Given the description of an element on the screen output the (x, y) to click on. 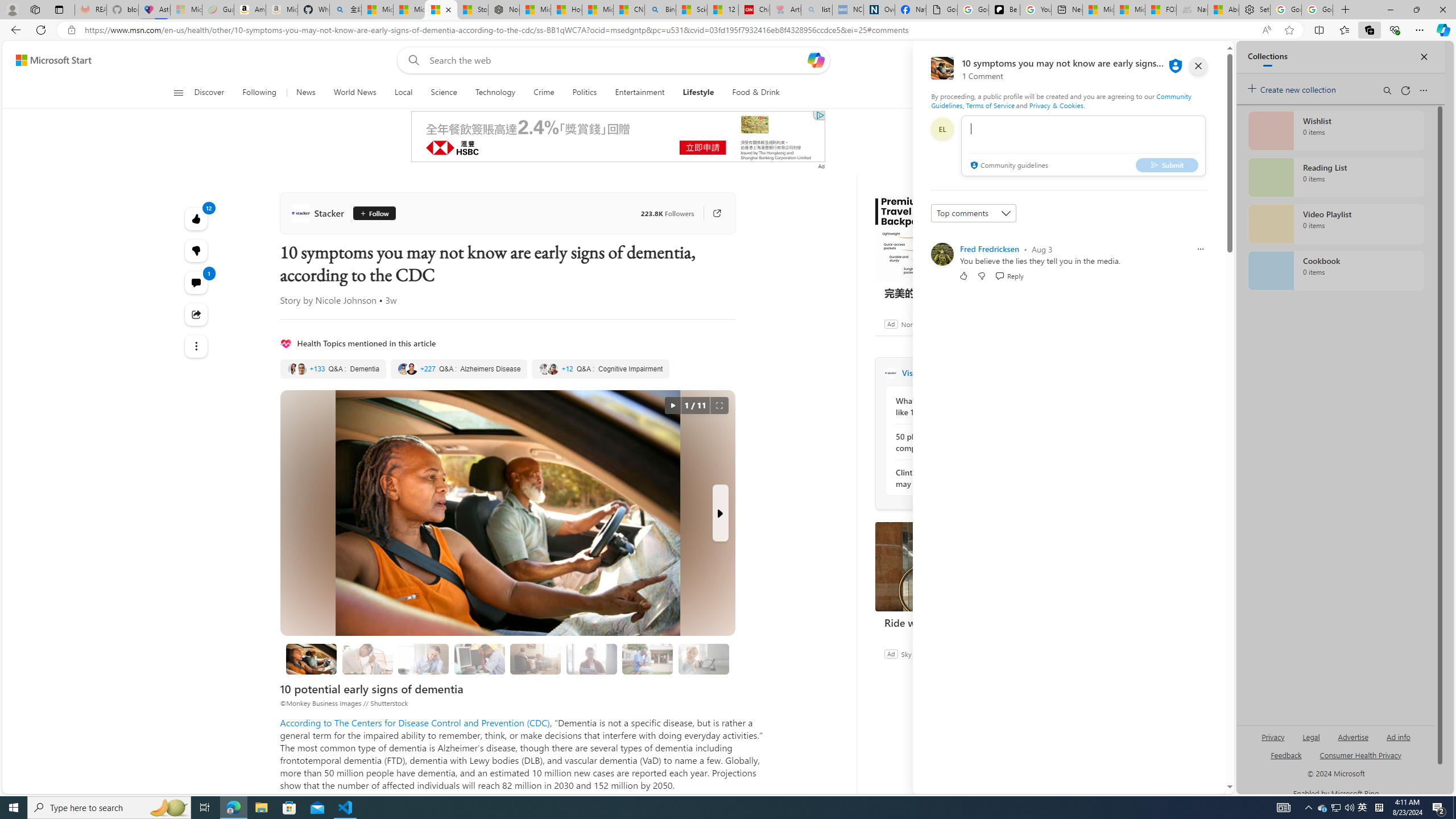
To get missing image descriptions, open the context menu. (995, 92)
Science - MSN (691, 9)
View comments 1 Comment (196, 282)
NCL Adult Asthma Inhaler Choice Guideline - Sleeping (847, 9)
AutomationID: genId96 (1285, 759)
autorotate button (672, 405)
Stacker (319, 212)
Misplacing things and losing the ability to retrace steps (703, 658)
Notifications (1177, 60)
Memory loss that disrupts daily life (367, 659)
Aberdeen, Hong Kong SAR hourly forecast | Microsoft Weather (1222, 9)
Sky Blue Bikes (922, 653)
Politics (584, 92)
